Given the description of an element on the screen output the (x, y) to click on. 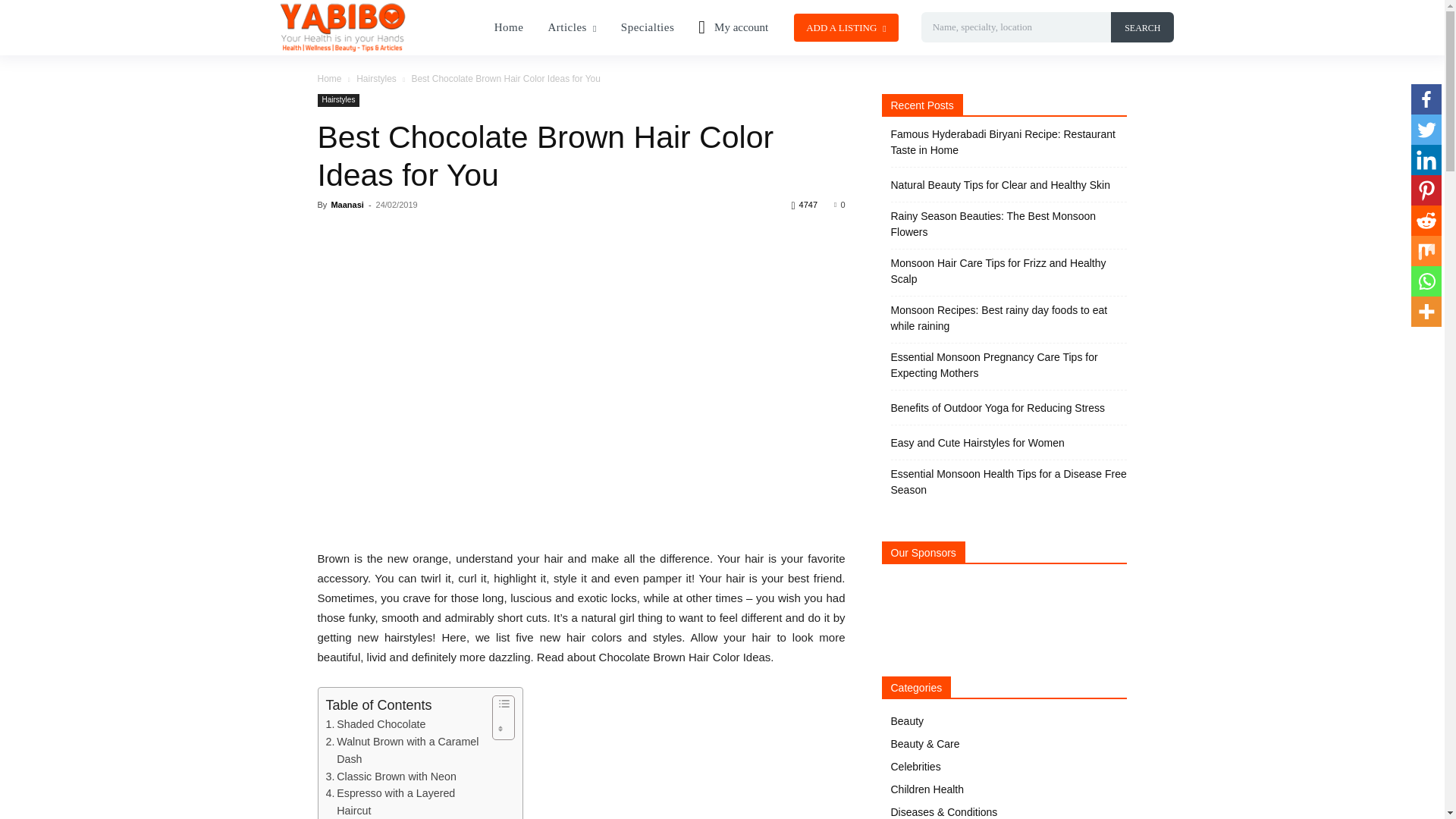
Shaded Chocolate (376, 724)
View all posts in Hairstyles (376, 78)
Articles (571, 27)
Add a listing (845, 27)
Home (508, 27)
Walnut Brown with a Caramel Dash (405, 750)
